Given the description of an element on the screen output the (x, y) to click on. 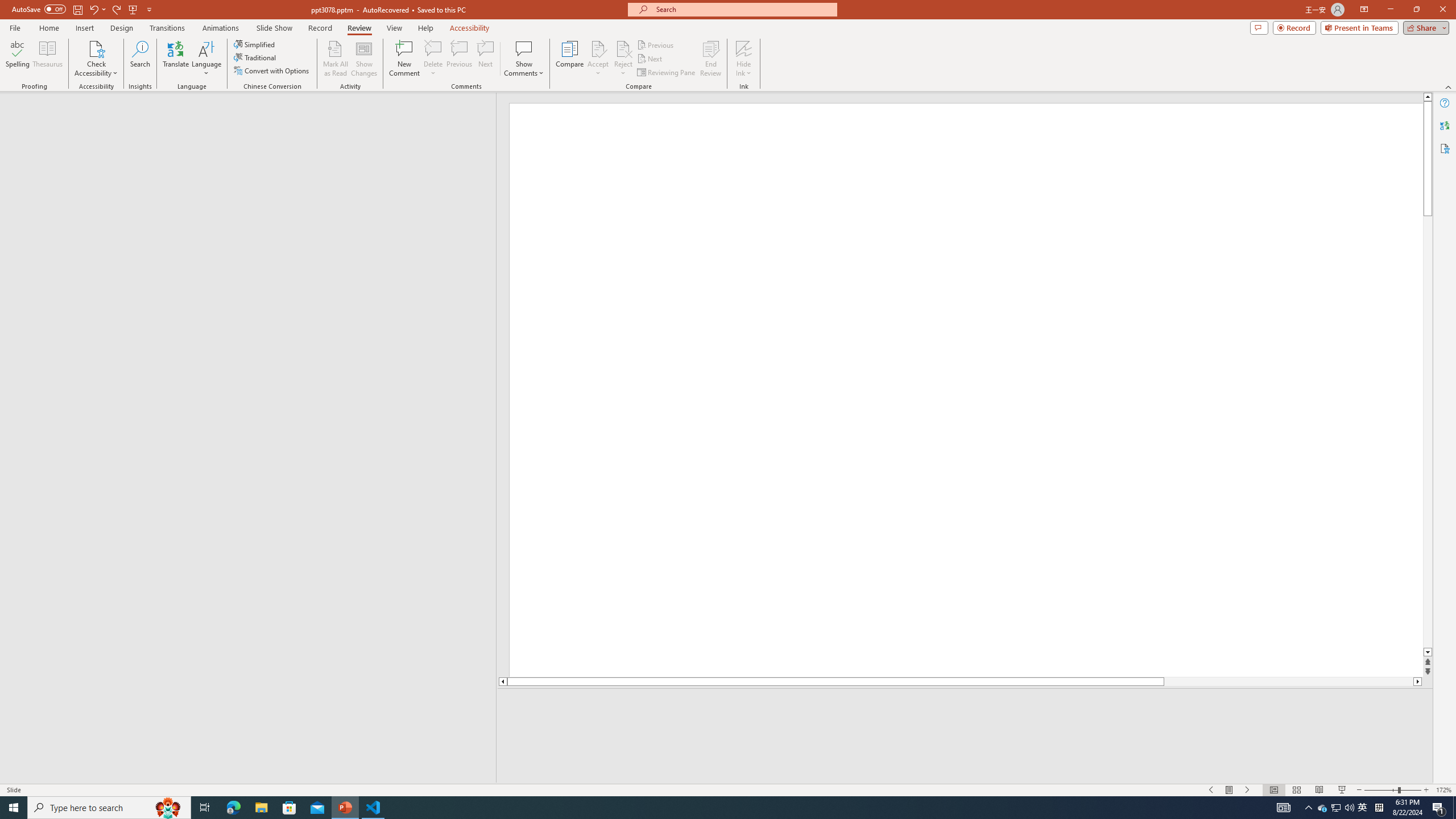
Convert with Options... (272, 69)
End Review (710, 58)
Simplified (254, 44)
